Given the description of an element on the screen output the (x, y) to click on. 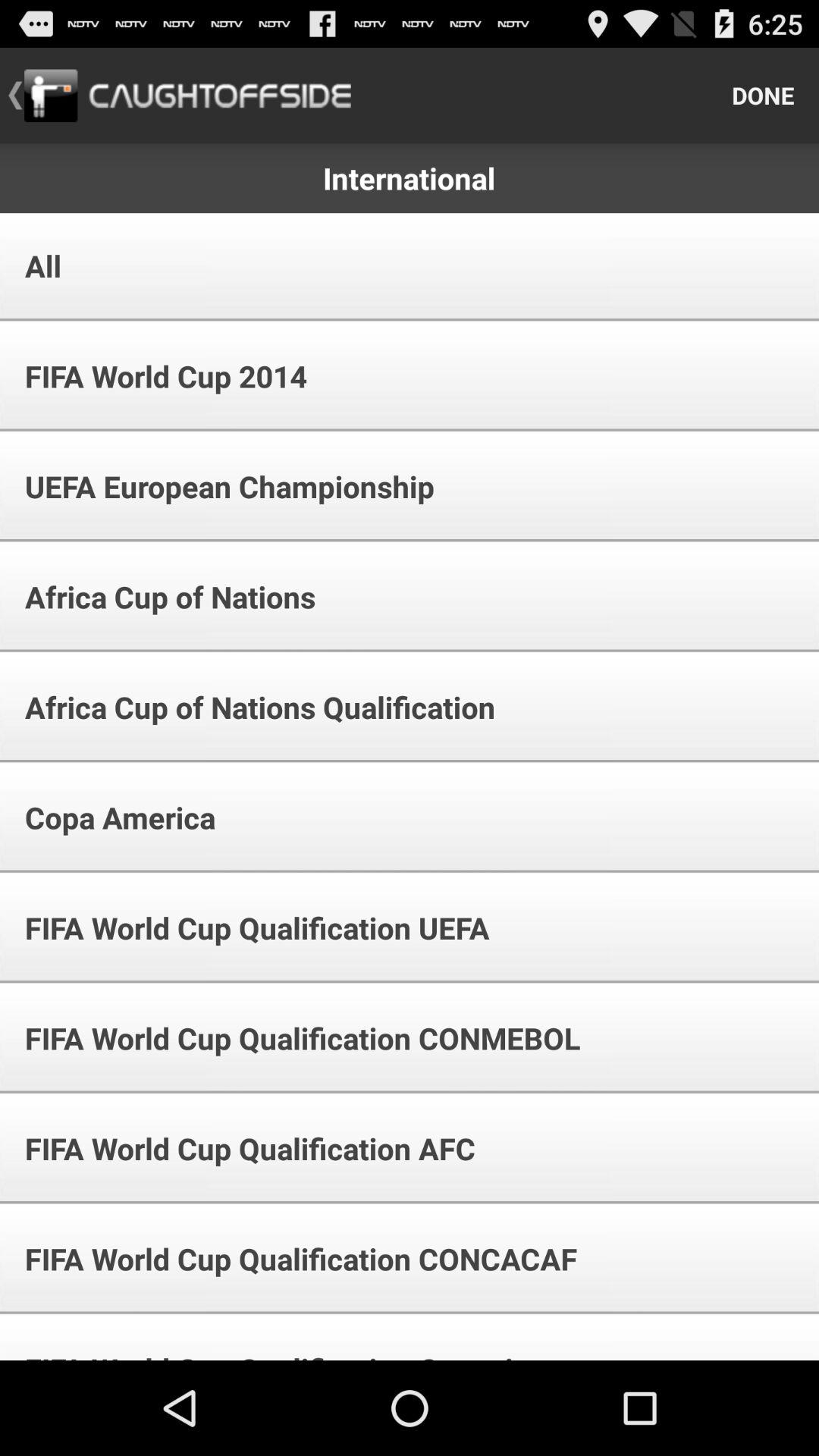
select app below the fifa world cup item (219, 486)
